Given the description of an element on the screen output the (x, y) to click on. 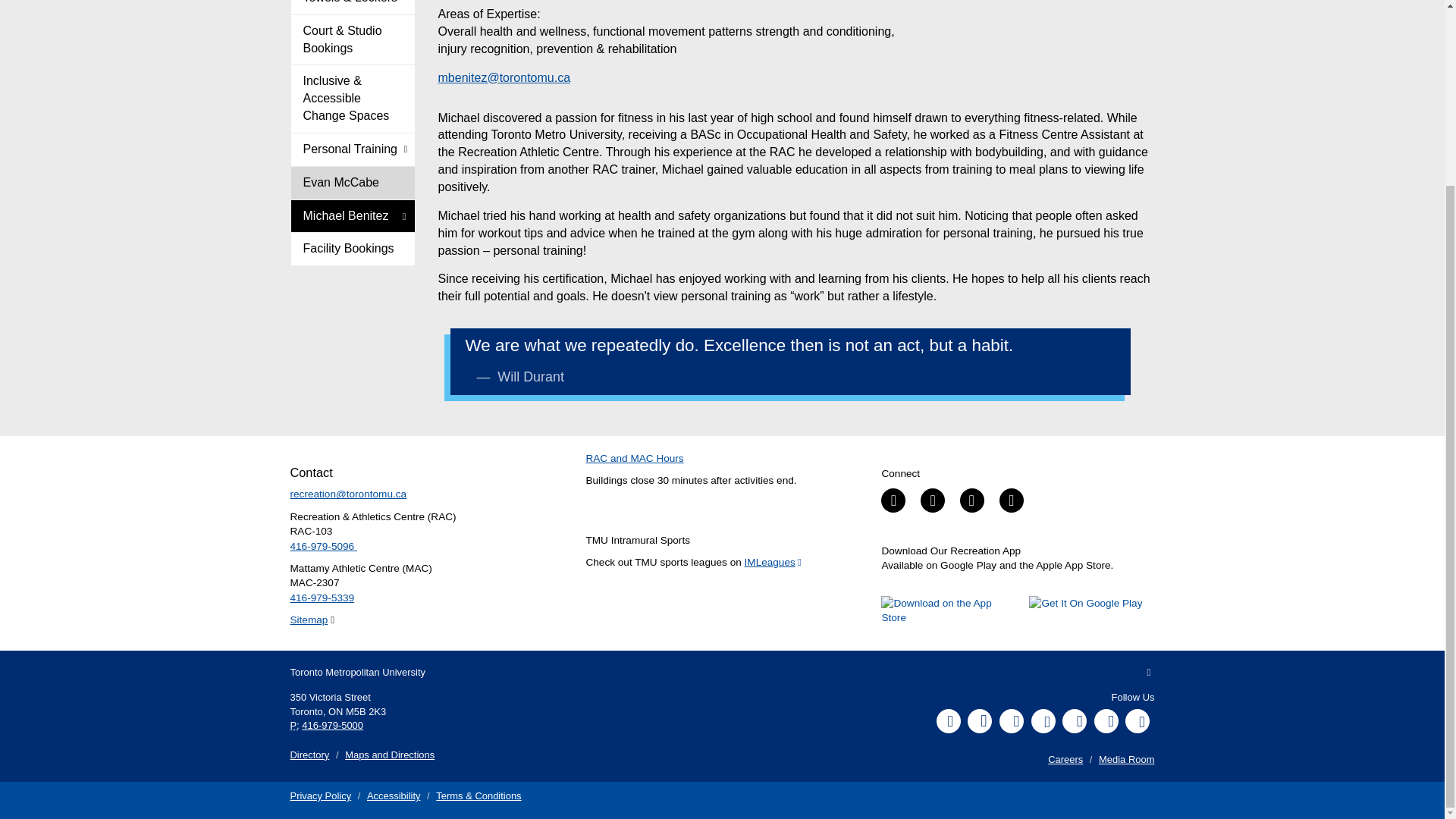
youtube (971, 500)
facebook (892, 500)
Threads (1137, 721)
instagram (1010, 500)
Facebook (948, 721)
X (1010, 721)
LinkedIn (1074, 721)
YouTube (1042, 721)
twitter (932, 500)
Tiktok (1106, 721)
